Given the description of an element on the screen output the (x, y) to click on. 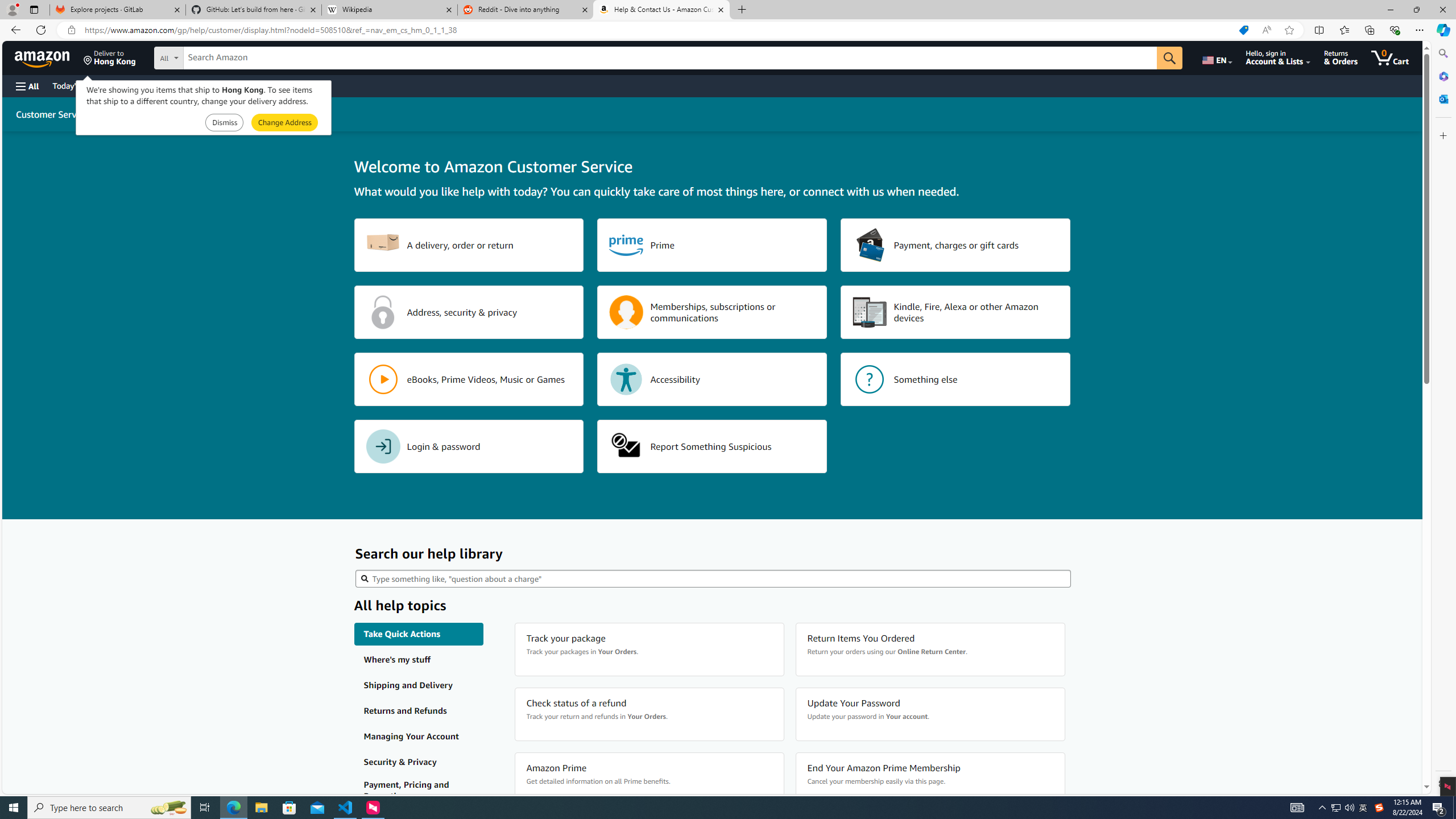
Customer Service (52, 114)
Something else (955, 379)
Gift Cards (251, 85)
Close Outlook pane (1442, 98)
Search our help library (713, 578)
Digital Services and Device Support (228, 114)
